Given the description of an element on the screen output the (x, y) to click on. 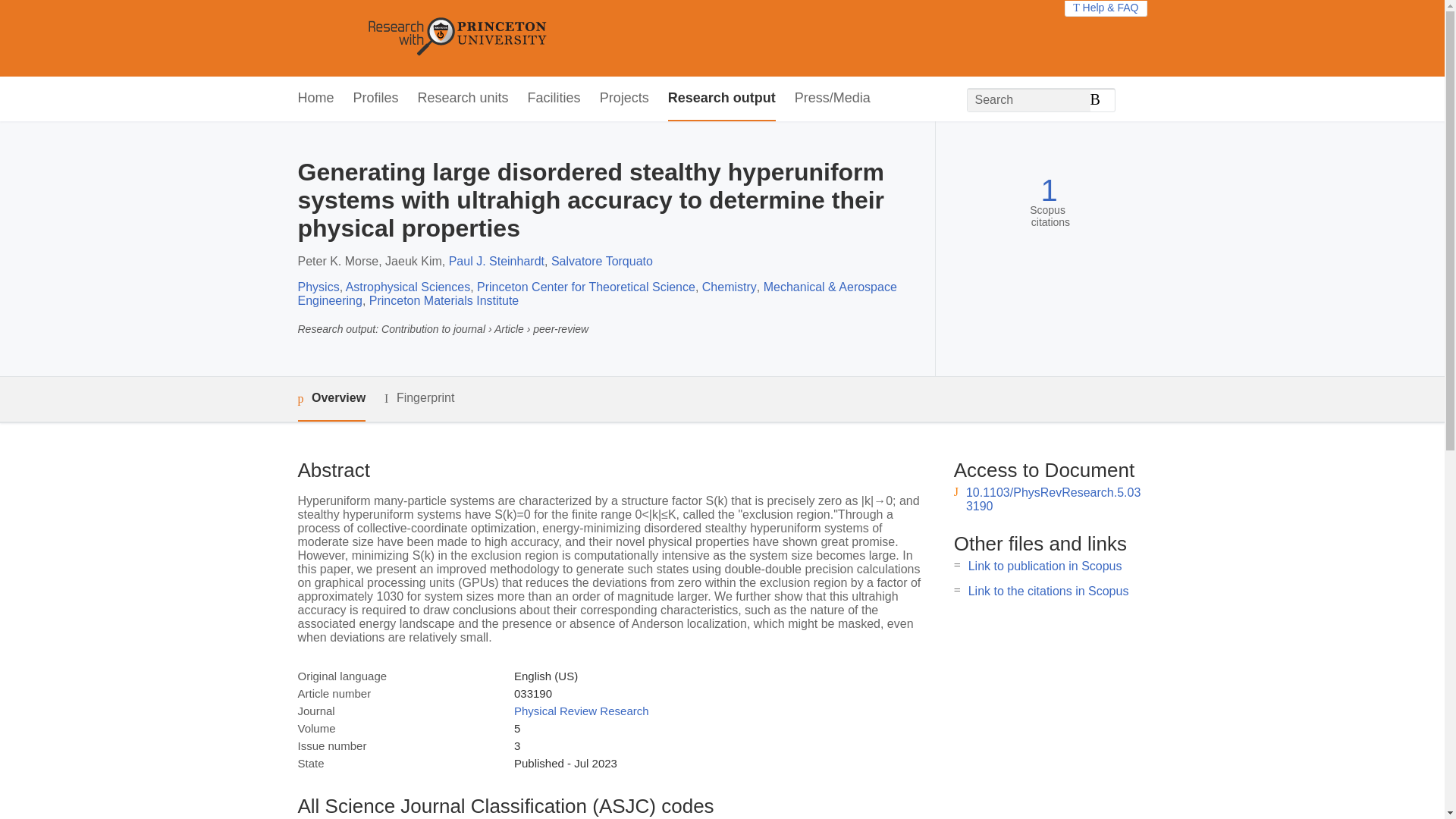
Paul J. Steinhardt (496, 260)
Astrophysical Sciences (408, 286)
Overview (331, 398)
Chemistry (729, 286)
Princeton Materials Institute (443, 300)
Research units (462, 98)
Facilities (553, 98)
Link to the citations in Scopus (1048, 590)
Physical Review Research (581, 710)
Princeton University Home (567, 38)
Projects (624, 98)
Research output (722, 98)
Link to publication in Scopus (1045, 565)
Profiles (375, 98)
